Given the description of an element on the screen output the (x, y) to click on. 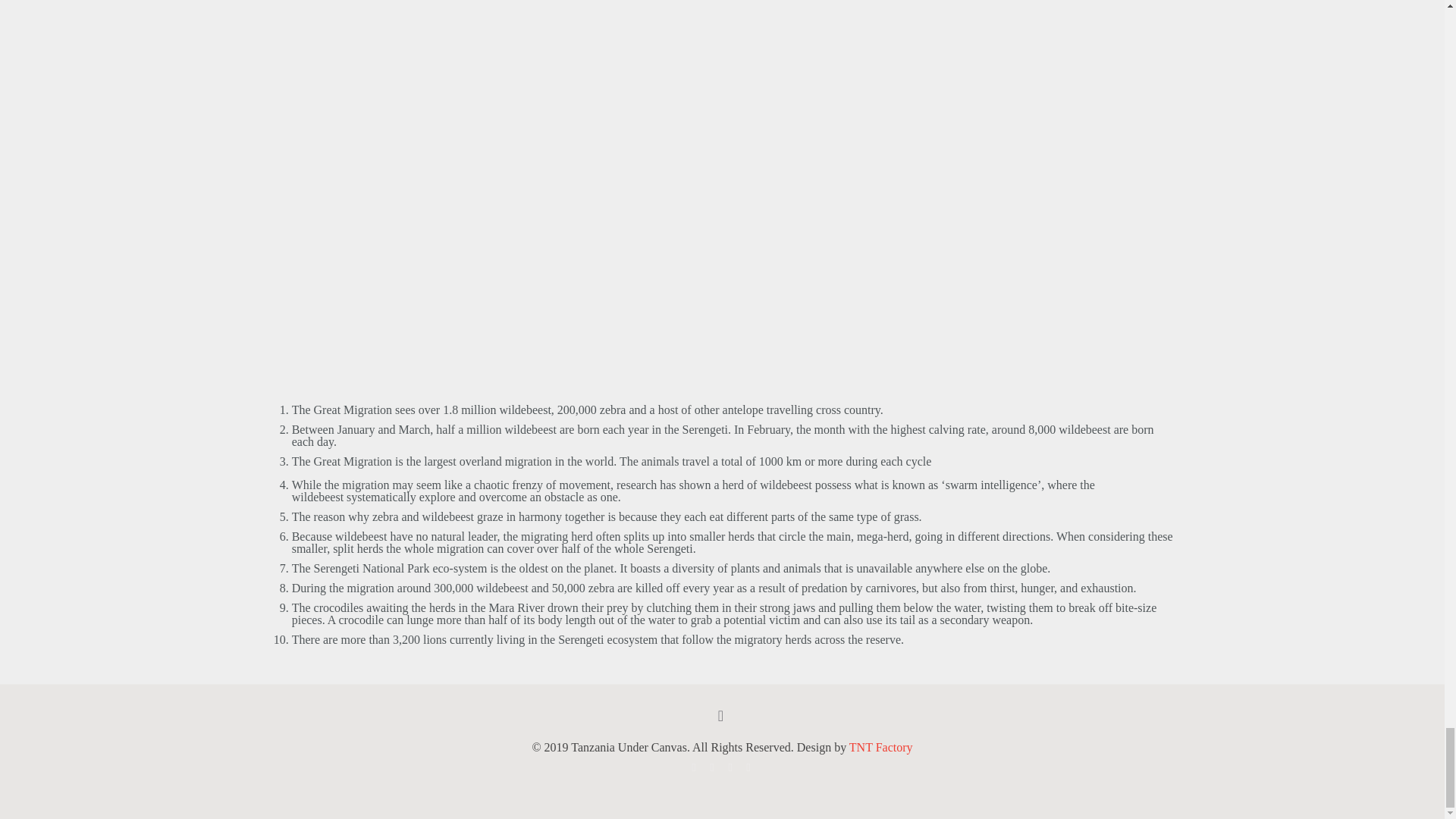
Vimeo (731, 767)
Twitter (713, 767)
YouTube (749, 767)
Facebook (694, 767)
